Given the description of an element on the screen output the (x, y) to click on. 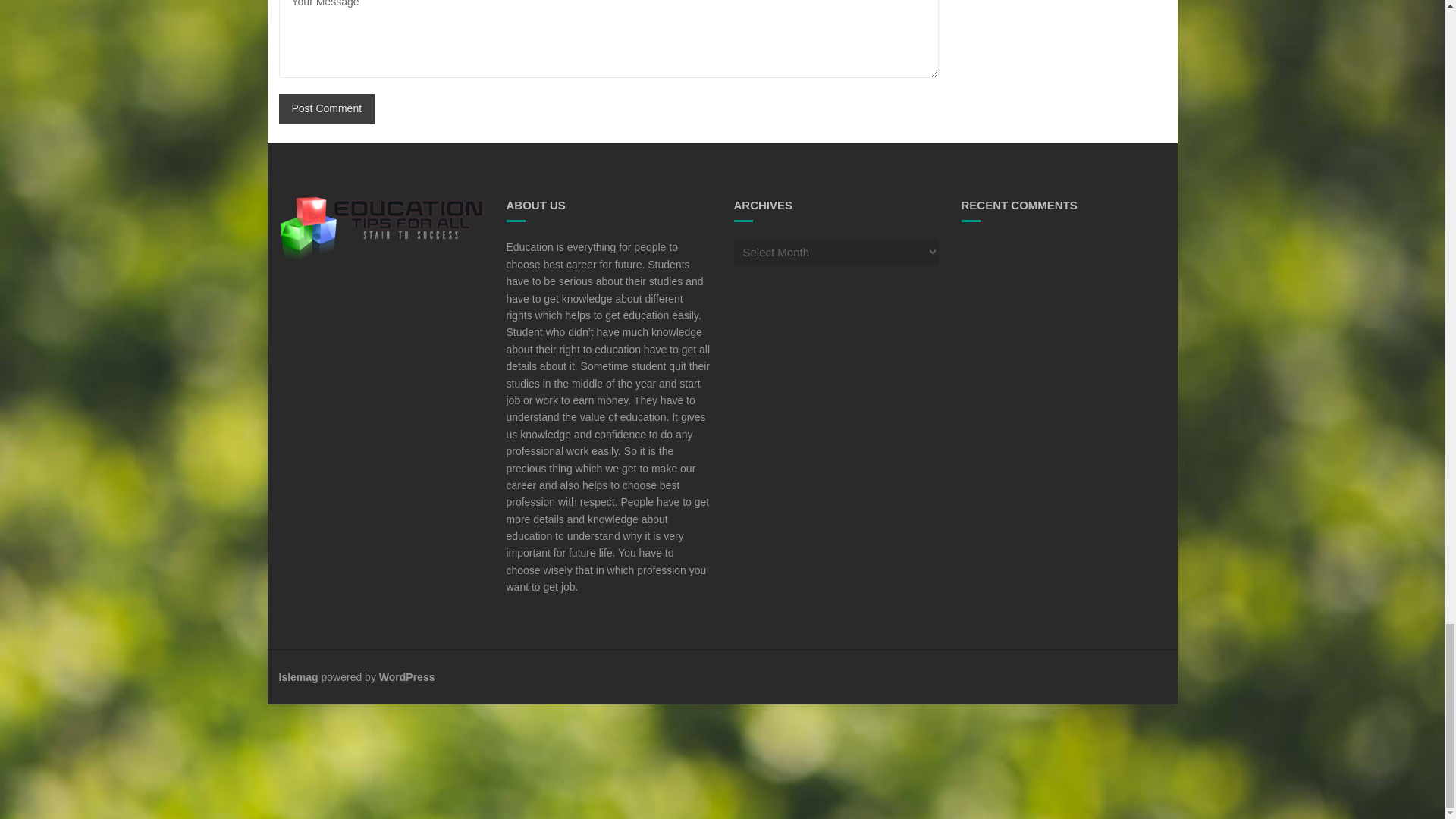
Post Comment (327, 109)
